Given the description of an element on the screen output the (x, y) to click on. 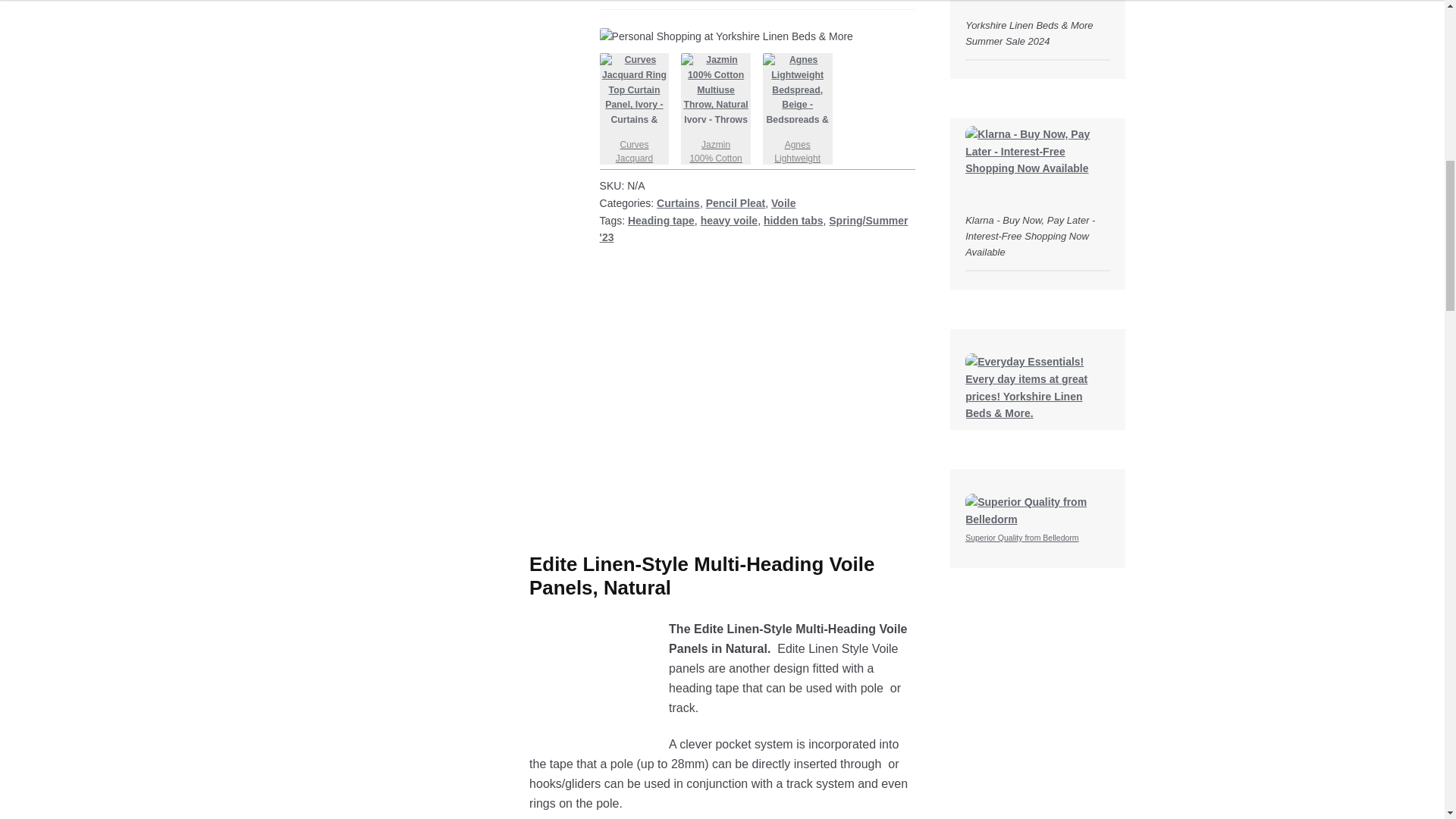
Superior Quality from Belledorm (1037, 519)
Everyday Essentials! Every day items at great prices! (1037, 387)
